Given the description of an element on the screen output the (x, y) to click on. 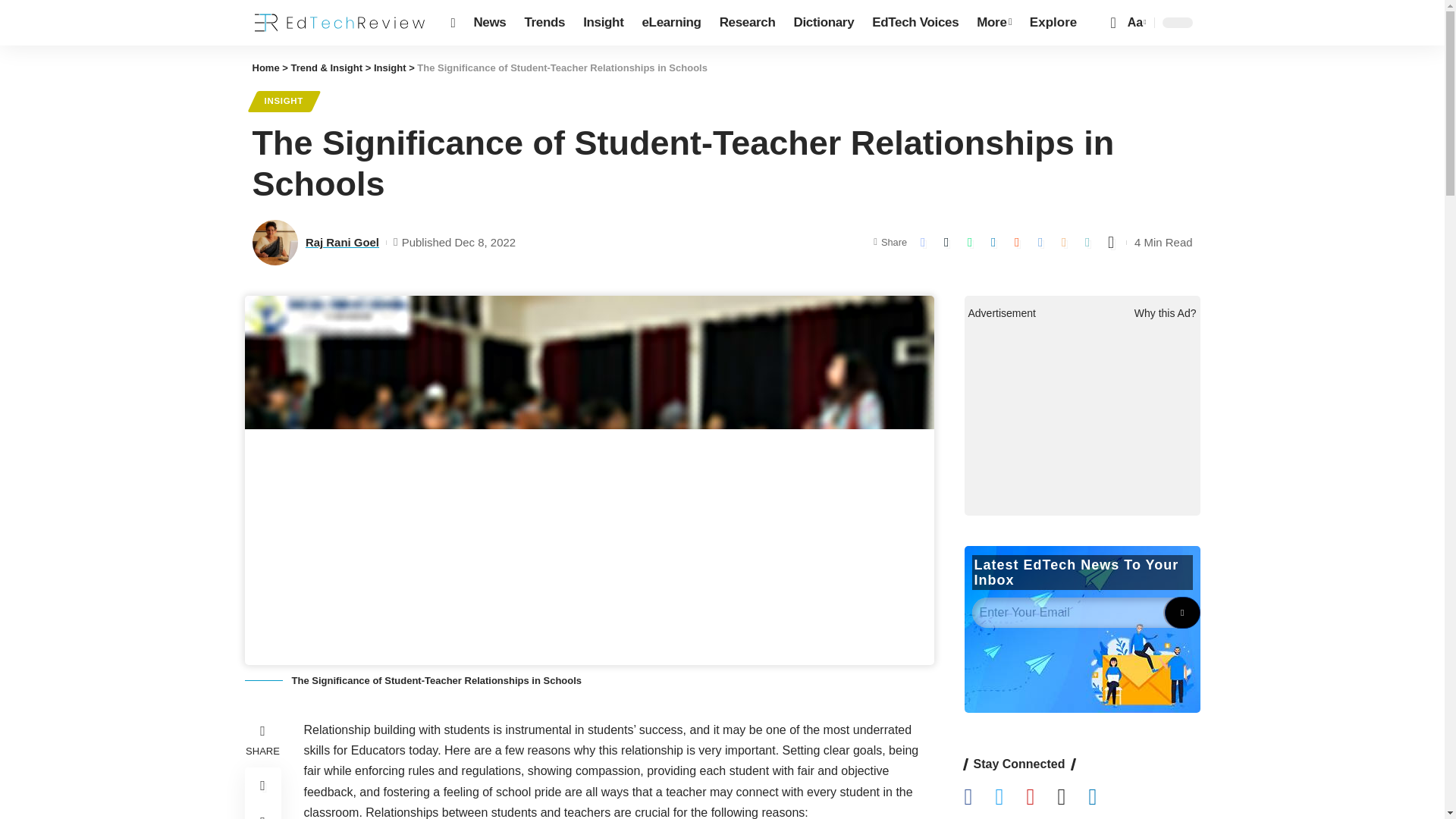
Follow EdTechReview on Instagram (1072, 797)
Research (747, 22)
EdTechReview (338, 22)
News (489, 22)
Go to EdTechReview. (265, 67)
Follow EdTechReview on Facebook (979, 797)
Dictionary (823, 22)
EdTech Voices (915, 22)
Follow EdTechReview on LinkedIn (1103, 797)
Follow EdTechReview on Twitter (1010, 797)
Go to the Insight Category archives. (390, 67)
Follow EdTechReview on YouTube (1041, 797)
Trends (544, 22)
Raj Rani Goel (274, 242)
